Given the description of an element on the screen output the (x, y) to click on. 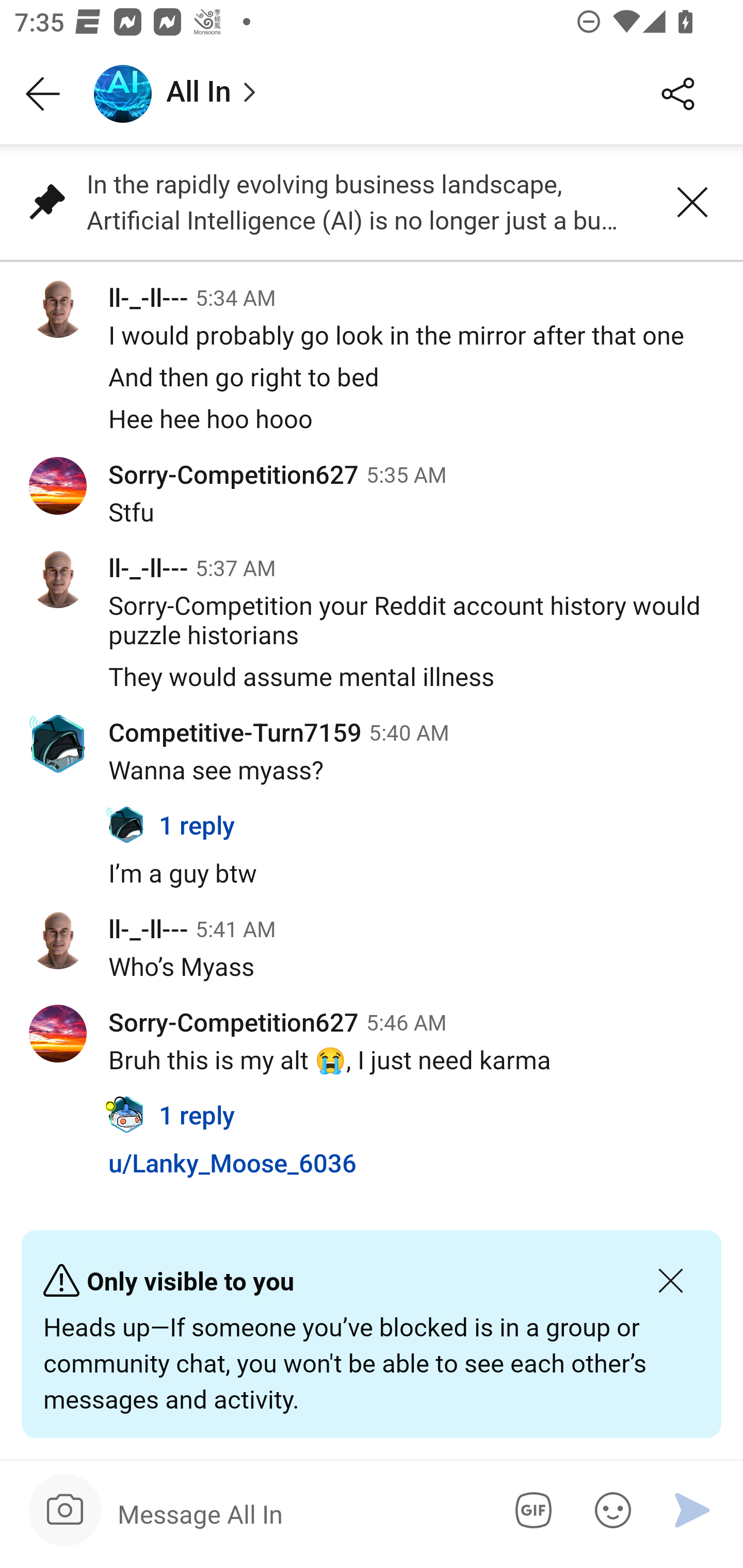
Back (43, 93)
All In (353, 93)
Share (677, 93)
ll-_-ll--- ll-_-ll--- posted 5:41 AM Who’s Myass (371, 956)
u/Lanky_Moose_6036 (371, 1173)
Upload image (64, 1510)
Add GIF (529, 1510)
Add sticker (609, 1510)
Send message (692, 1510)
Message Message All In (298, 1513)
